Given the description of an element on the screen output the (x, y) to click on. 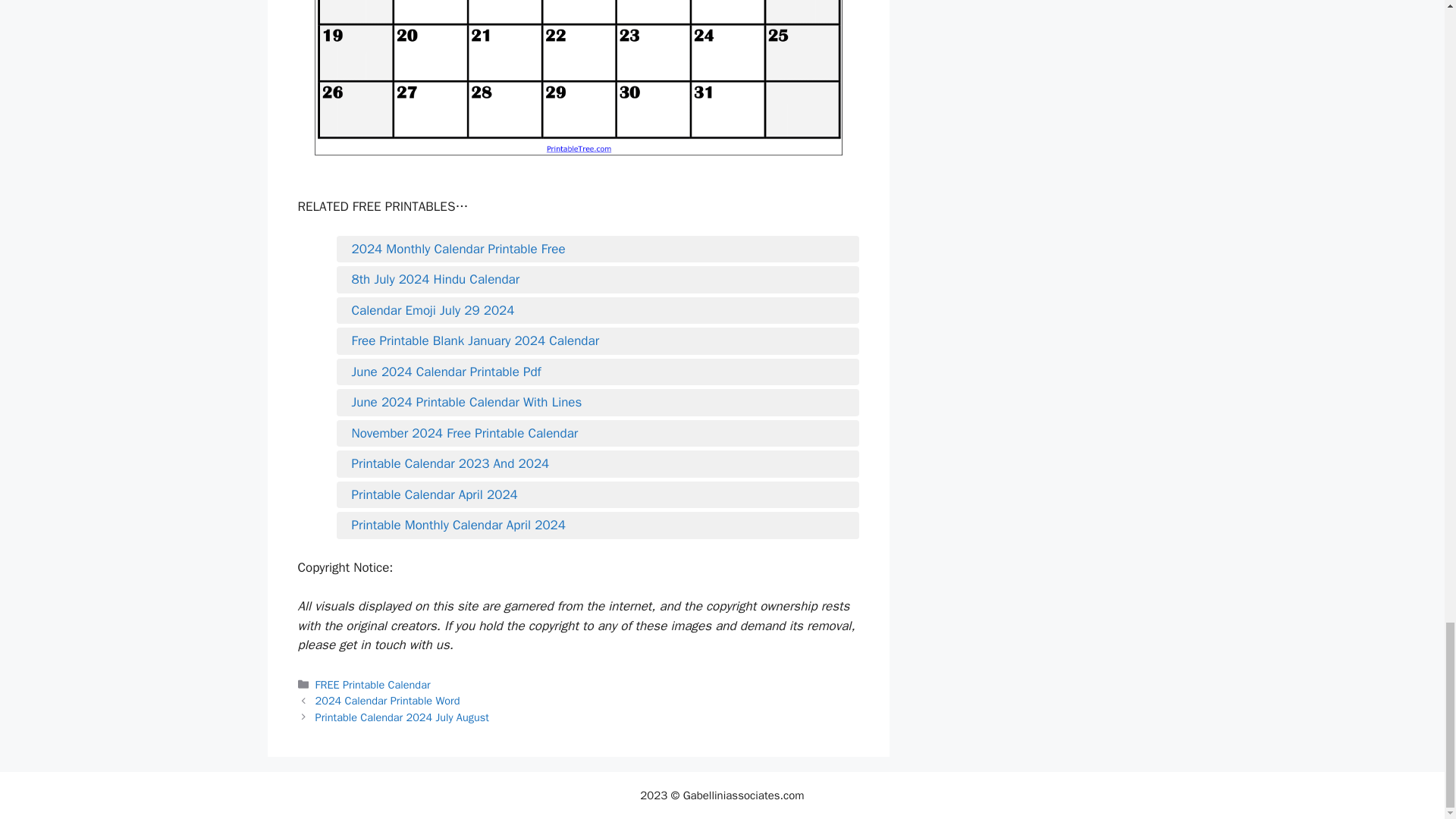
June 2024 Printable Calendar With Lines (597, 402)
FREE Printable Calendar (372, 684)
November 2024 Free Printable Calendar (597, 433)
2024 Monthly Calendar Printable Free (597, 249)
June 2024 Calendar Printable Pdf (597, 372)
8th July 2024 Hindu Calendar (597, 279)
Calendar Emoji July 29 2024 (597, 310)
Printable Calendar 2023 And 2024 (597, 463)
2024 Calendar Printable Word (387, 700)
Free Printable Blank January 2024 Calendar (597, 341)
Printable Calendar April 2024 (597, 495)
Printable Monthly Calendar April 2024 (597, 525)
Printable Calendar 2024 July August (402, 716)
